Given the description of an element on the screen output the (x, y) to click on. 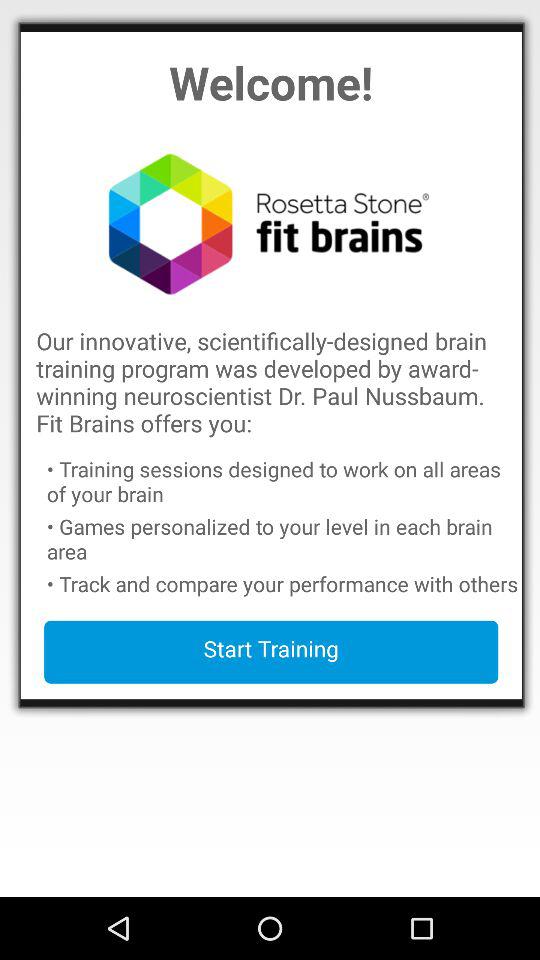
tap the start training button (271, 651)
